Given the description of an element on the screen output the (x, y) to click on. 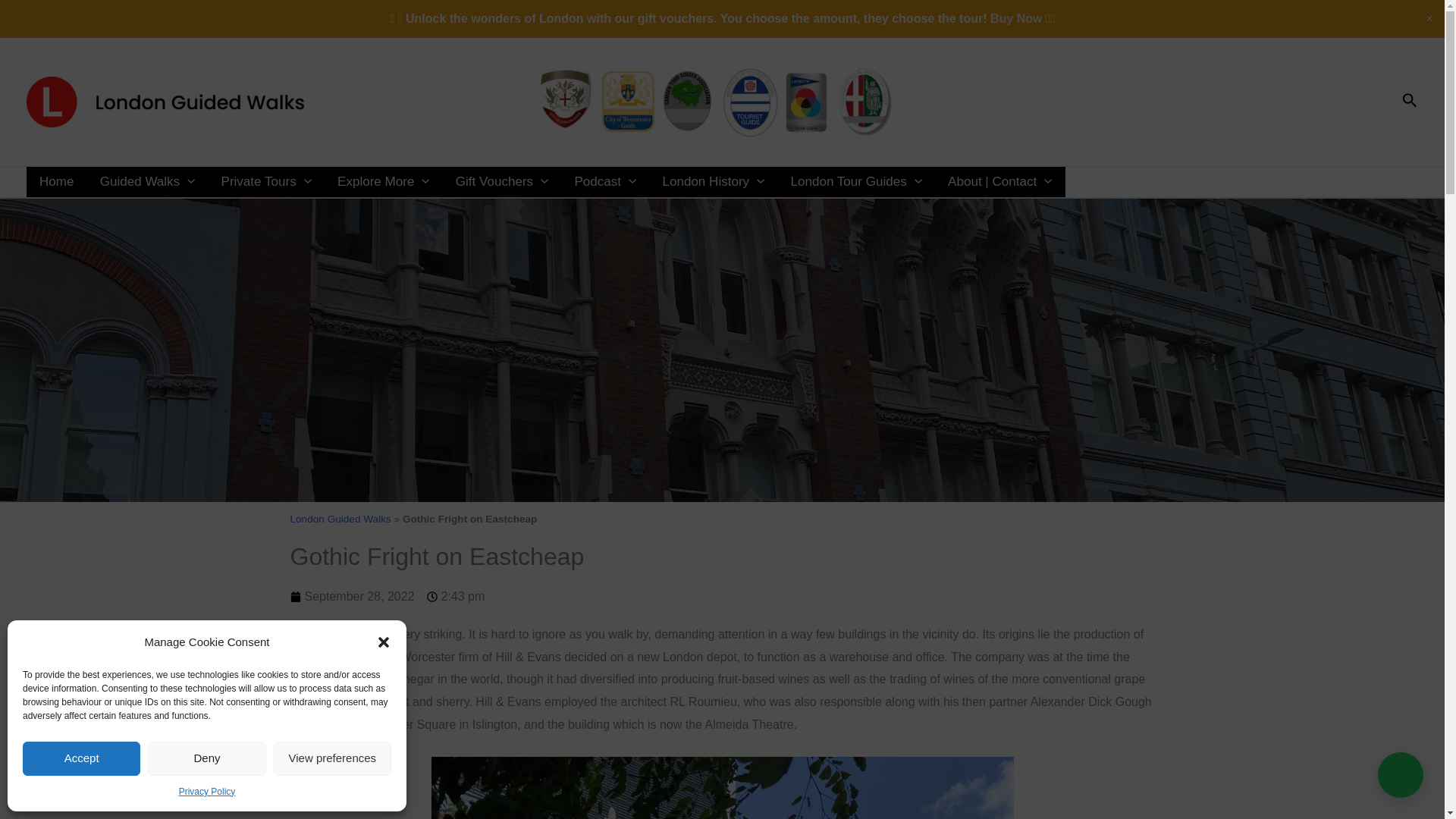
Buy Now (1016, 18)
View preferences (332, 758)
Deny (206, 758)
Private Tours (266, 182)
Privacy Policy (207, 791)
Home (56, 182)
Accept (81, 758)
Guided Walks (147, 182)
